Given the description of an element on the screen output the (x, y) to click on. 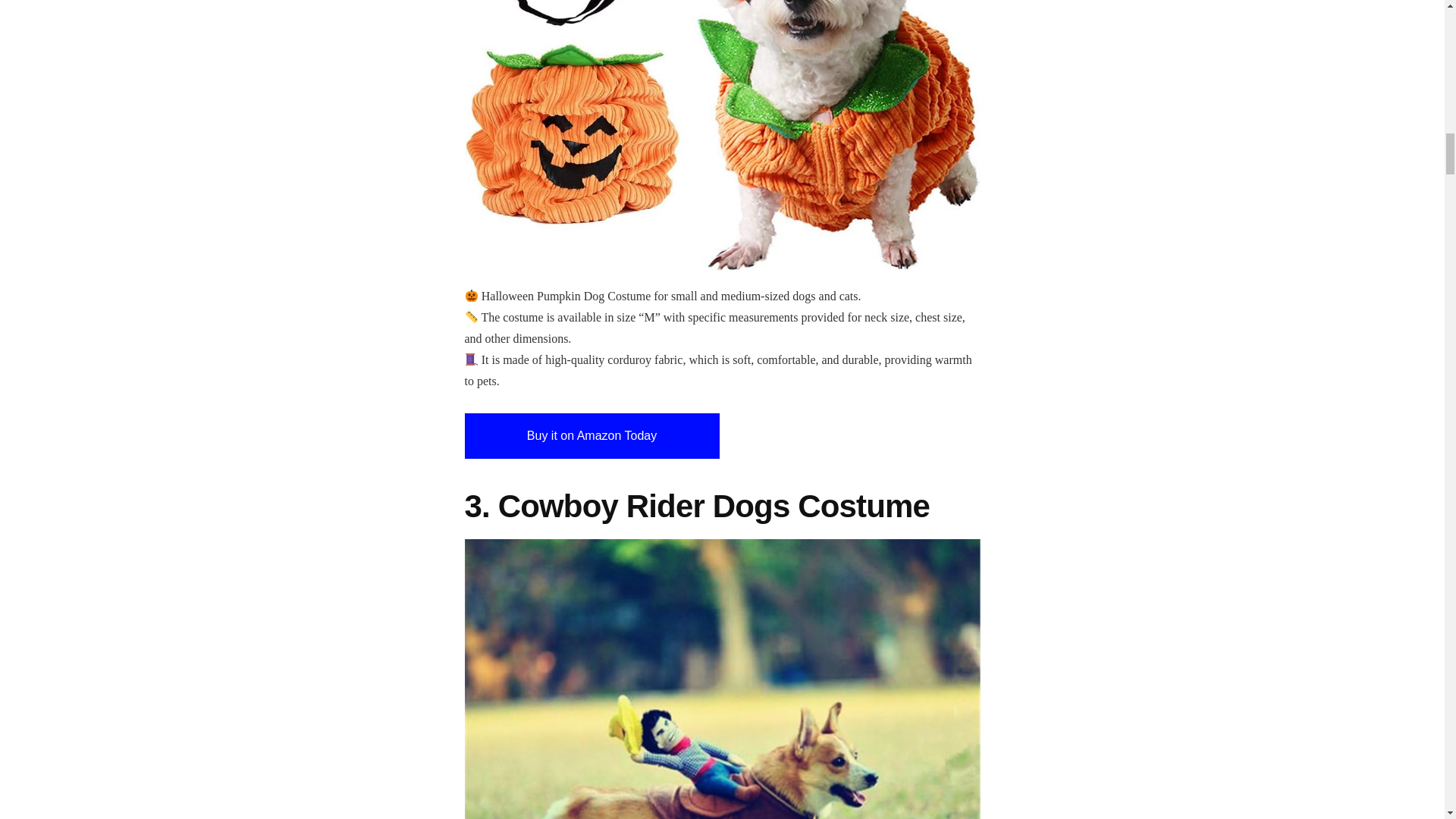
Buy it on Amazon Today (591, 435)
